Given the description of an element on the screen output the (x, y) to click on. 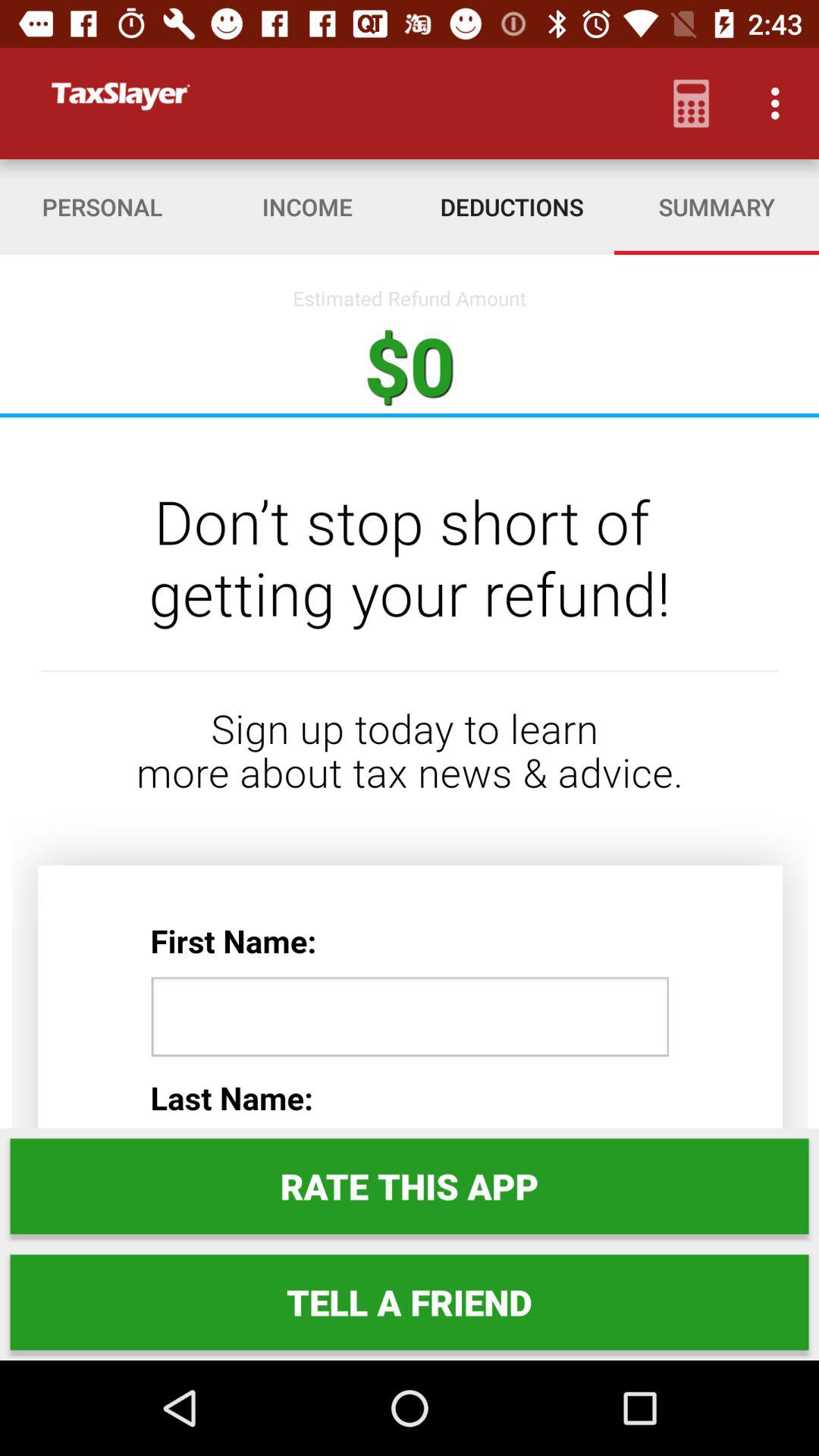
press rate this app icon (409, 1186)
